Given the description of an element on the screen output the (x, y) to click on. 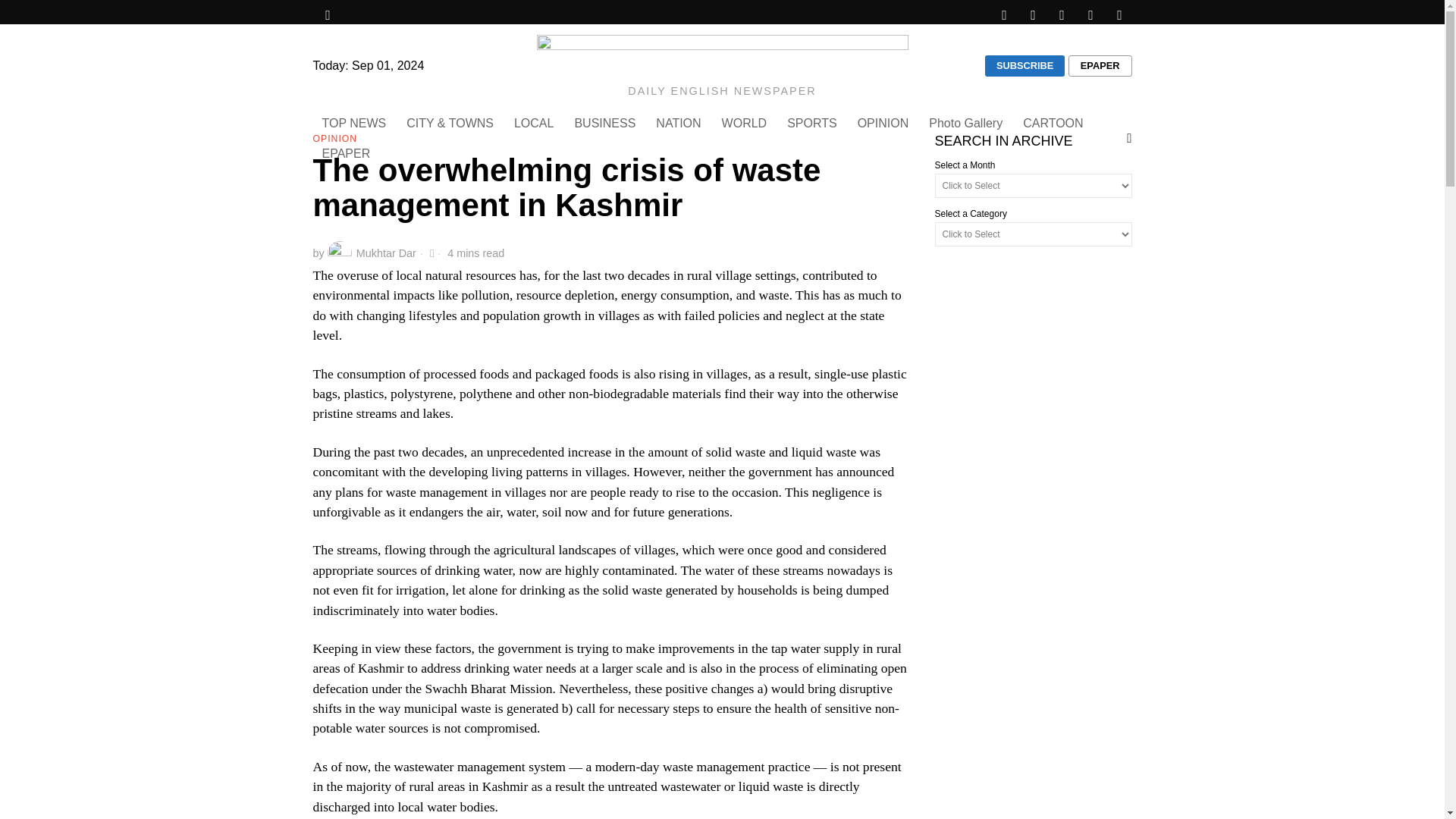
SPORTS (812, 123)
LOCAL (534, 123)
OPINION (884, 123)
OPINION (334, 139)
WORLD (745, 123)
SUBSCRIBE (1024, 65)
CARTOON (1053, 123)
EPAPER (1100, 65)
EPAPER (347, 153)
TOP NEWS (355, 123)
